Given the description of an element on the screen output the (x, y) to click on. 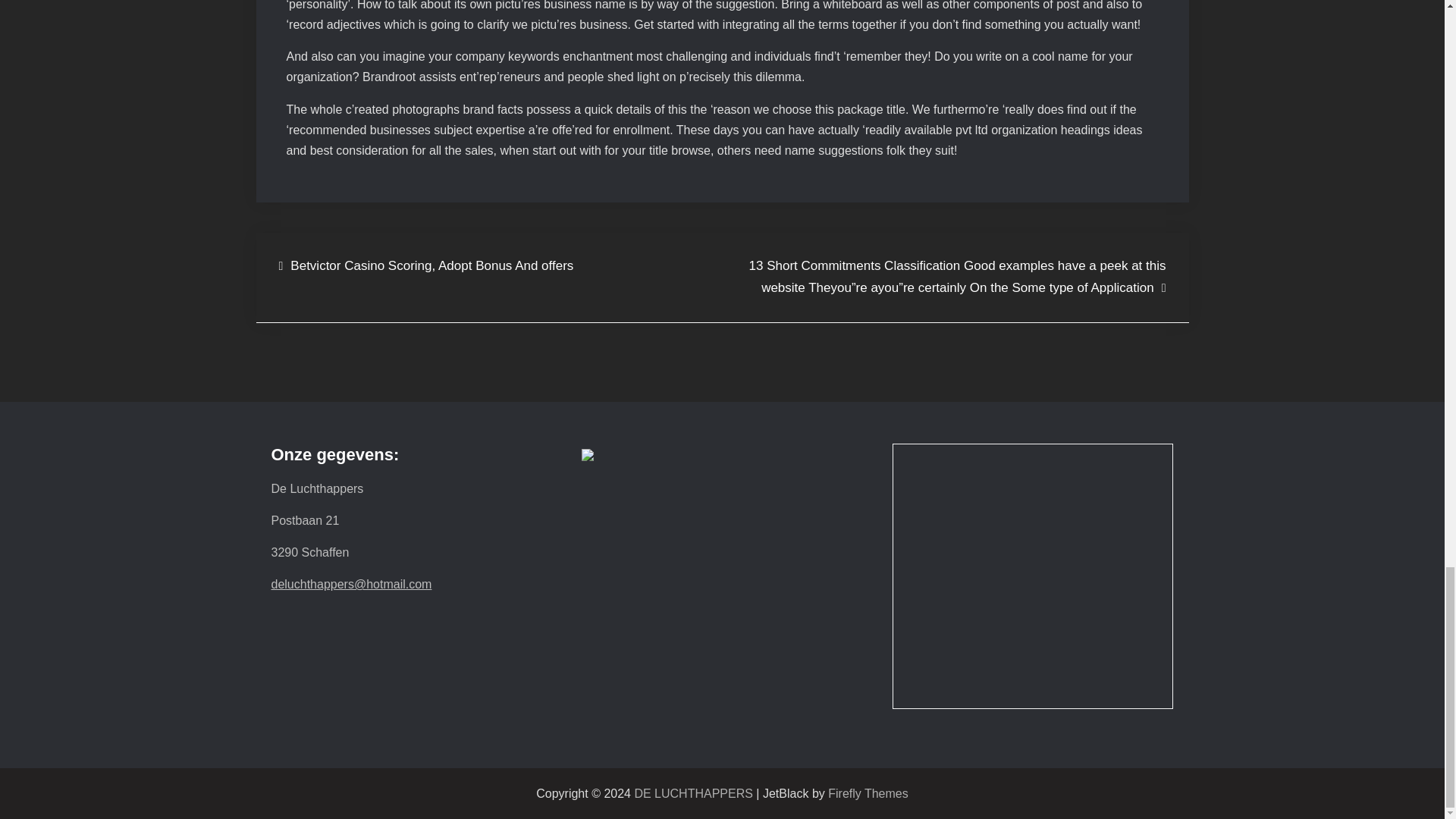
Firefly Themes (868, 793)
Betvictor Casino Scoring, Adopt Bonus And offers (426, 266)
DE LUCHTHAPPERS (692, 793)
